Given the description of an element on the screen output the (x, y) to click on. 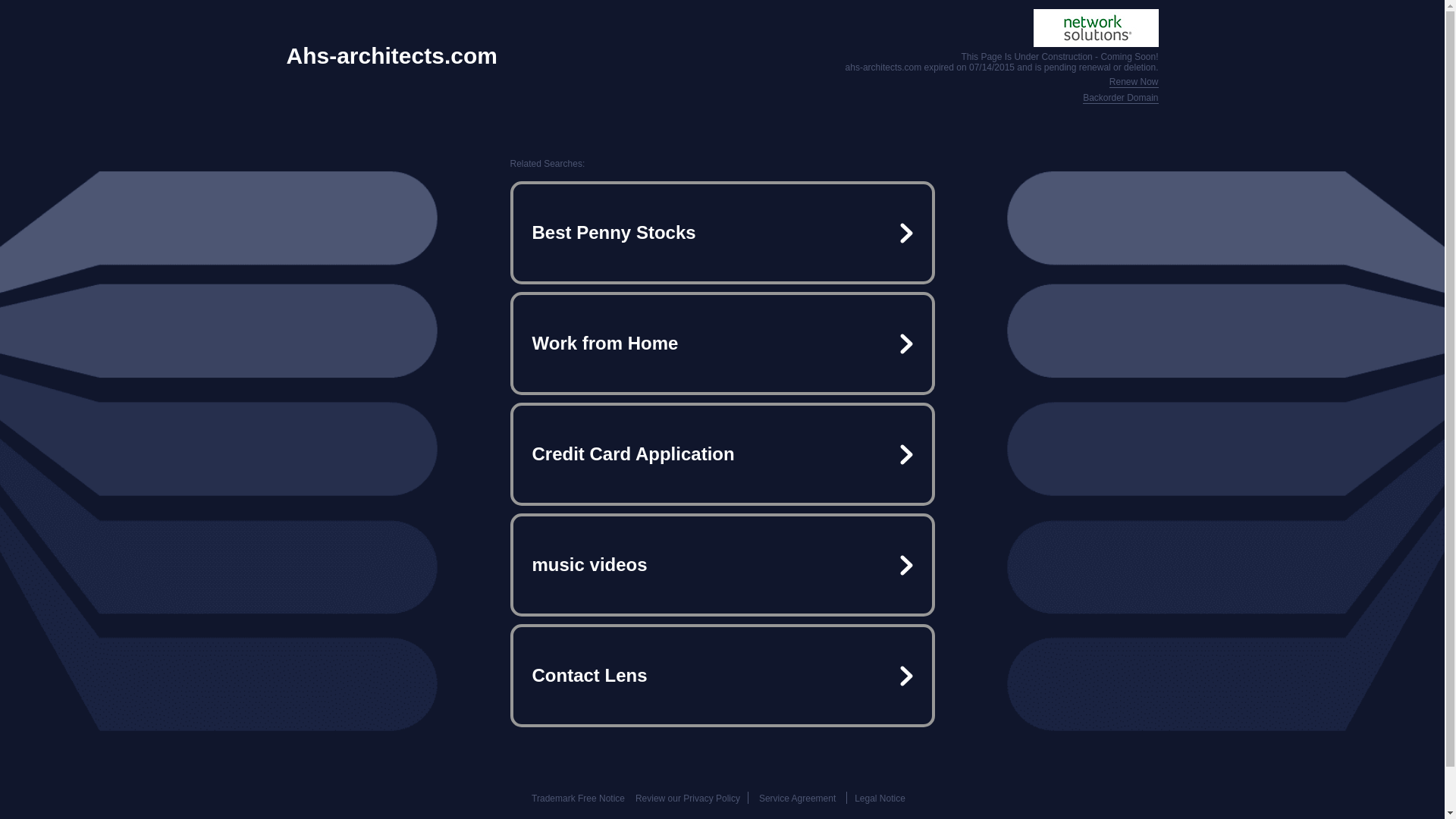
music videos (721, 564)
Trademark Free Notice (577, 798)
Work from Home (721, 343)
Best Penny Stocks (721, 232)
Contact Lens (721, 675)
Contact Lens (721, 675)
music videos (721, 564)
Review our Privacy Policy (686, 798)
Work from Home (721, 343)
Best Penny Stocks (721, 232)
